Given the description of an element on the screen output the (x, y) to click on. 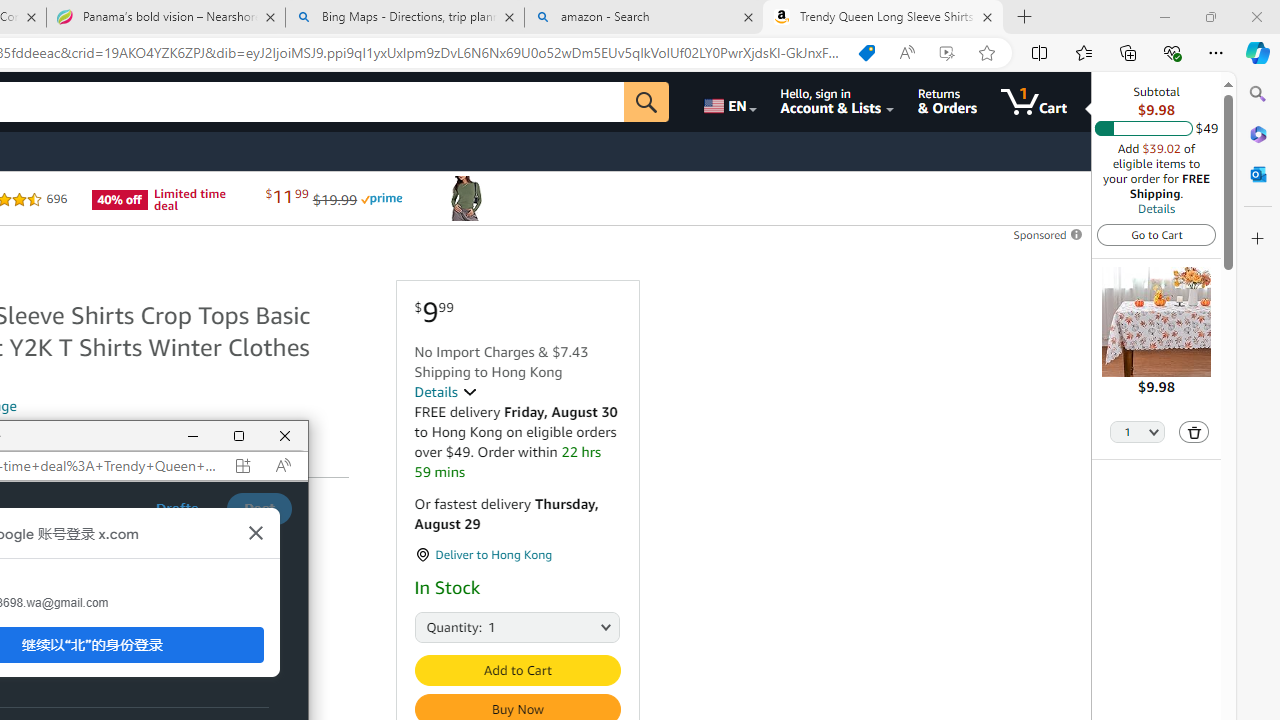
Quantity: (436, 626)
Returns & Orders (946, 101)
Details (1156, 208)
Quantity Selector (1137, 433)
You have the best price! (867, 53)
Go to Cart (1156, 234)
Class: Bz112c Bz112c-r9oPif (255, 533)
